Given the description of an element on the screen output the (x, y) to click on. 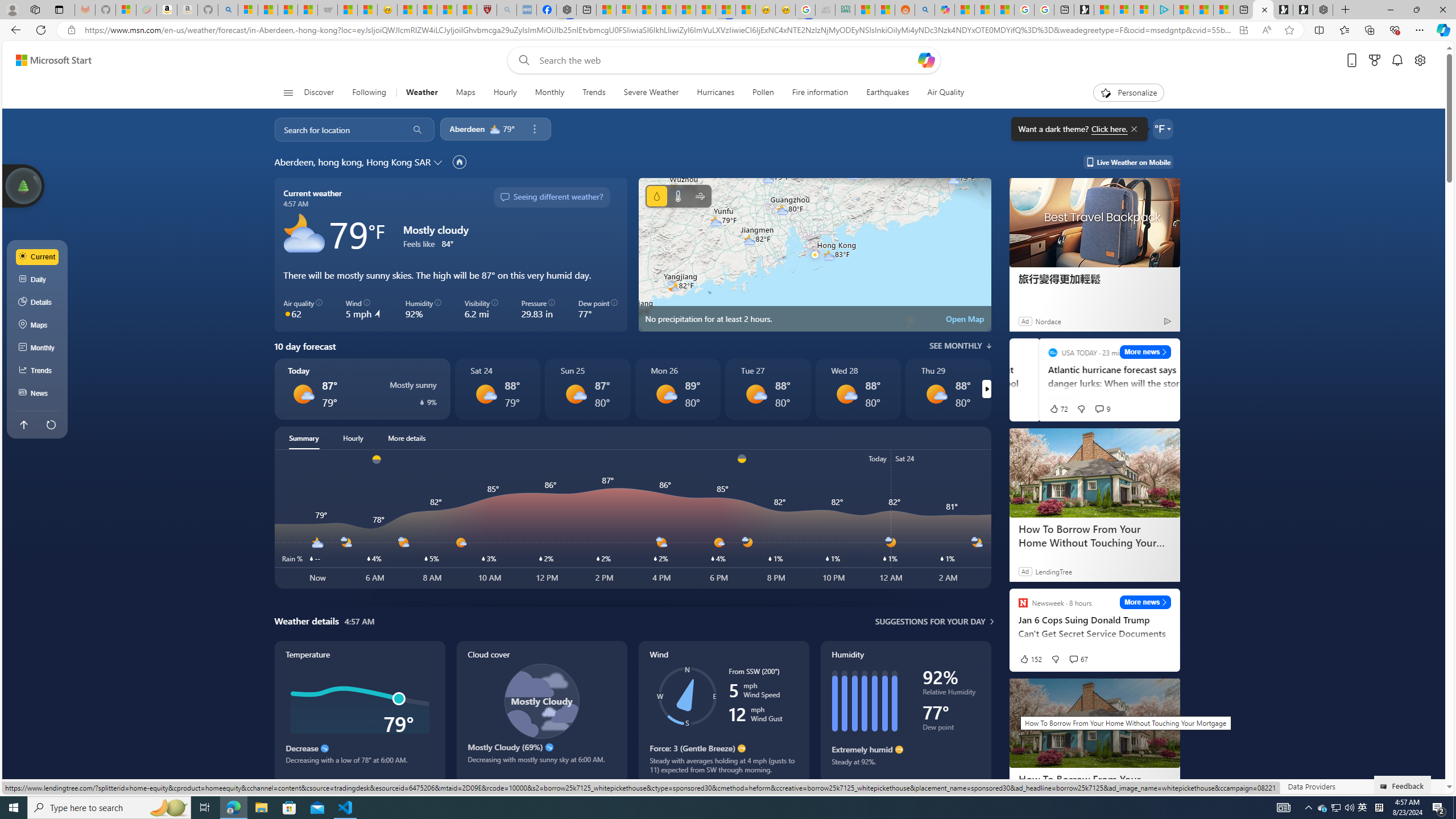
Open settings (1420, 60)
static map image of vector map (814, 254)
Hourly (352, 437)
Wind (723, 711)
Pollen (763, 92)
Aberdeen (466, 129)
More news (1144, 602)
Weather settings (1162, 128)
Severe Weather (650, 92)
No precipitation for at least 2 hours (814, 254)
Class: button-glyph (287, 92)
